Given the description of an element on the screen output the (x, y) to click on. 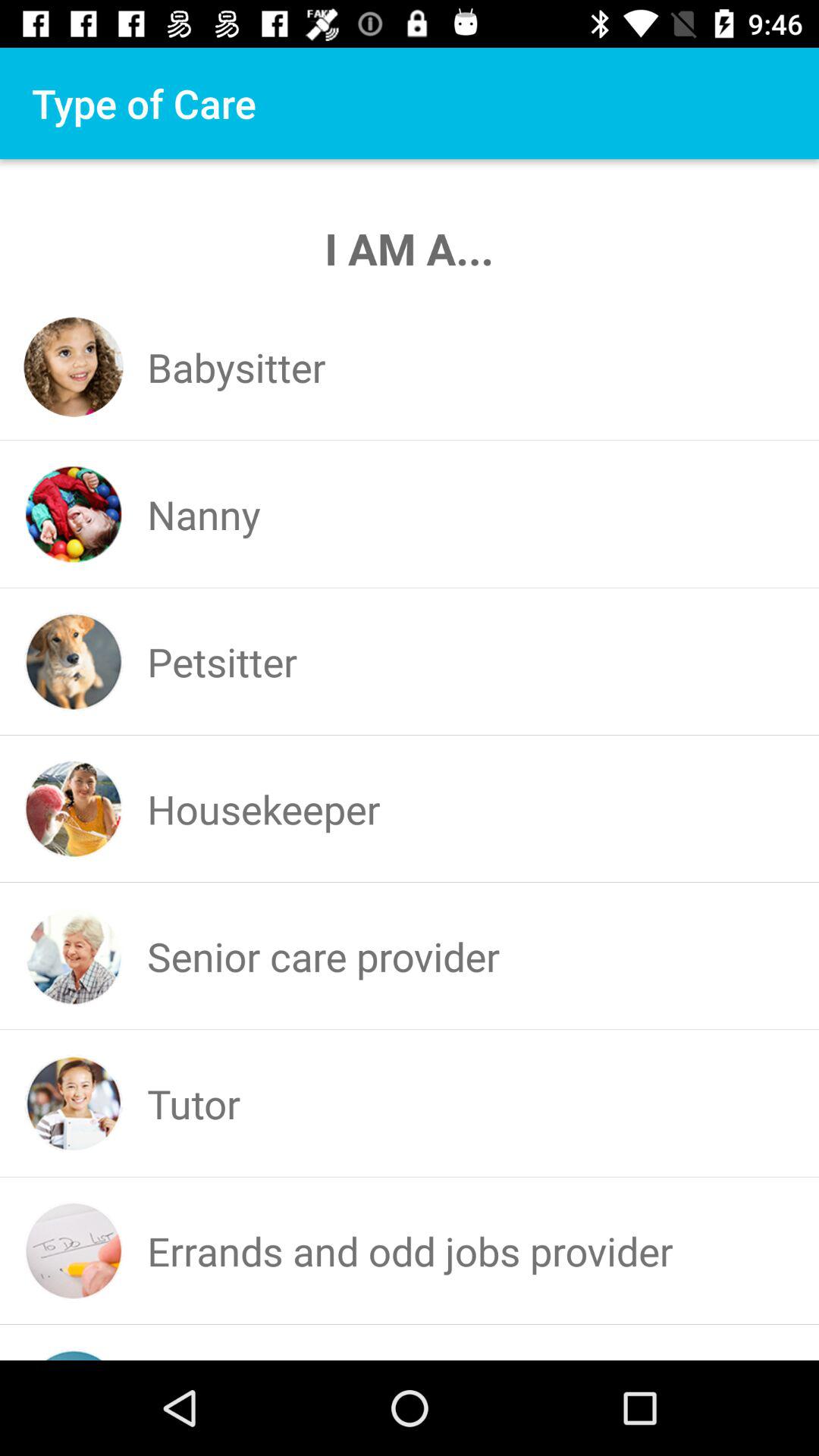
turn off icon above the errands and odd icon (193, 1103)
